Given the description of an element on the screen output the (x, y) to click on. 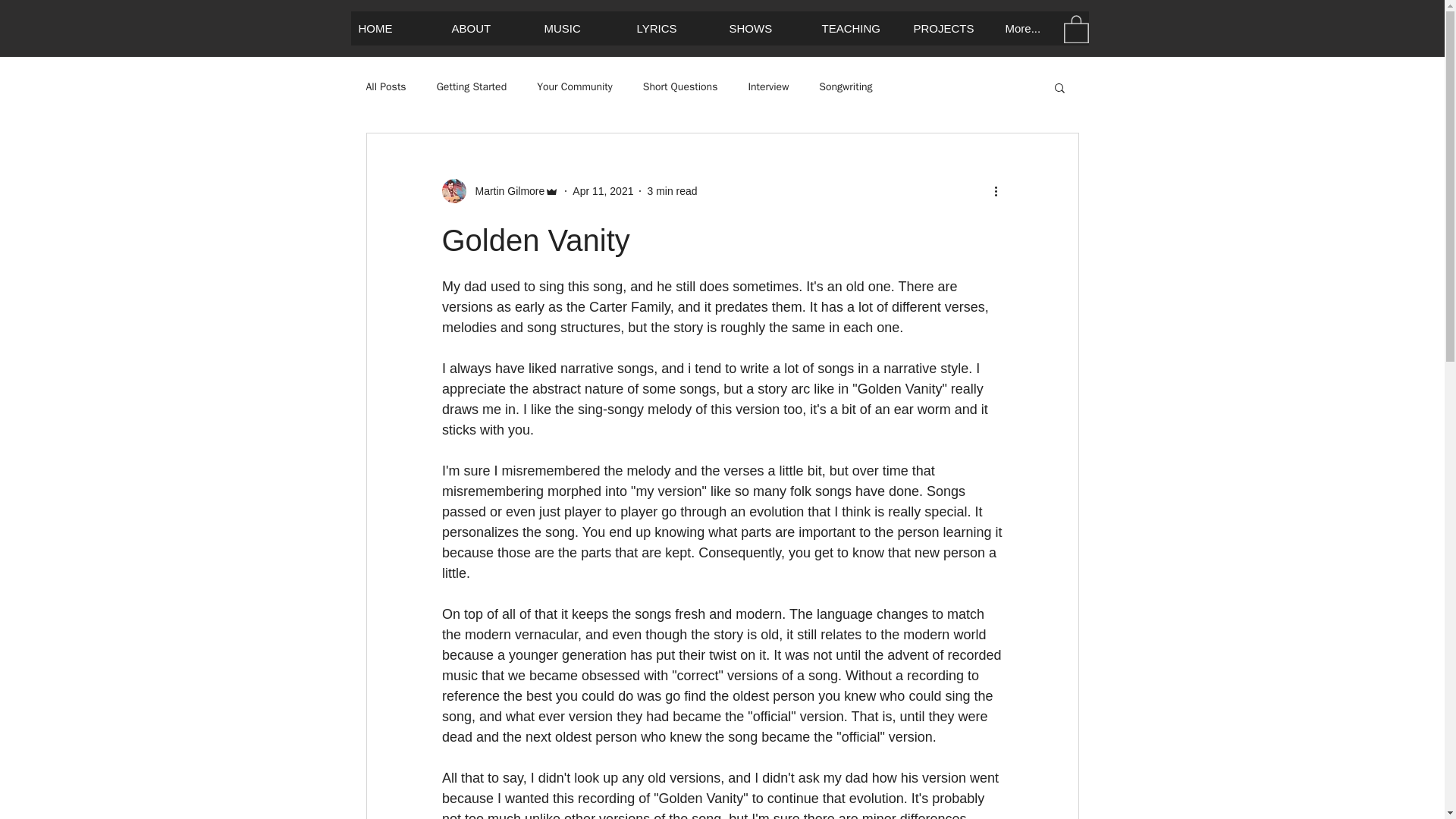
Martin Gilmore (504, 191)
Interview (768, 87)
Songwriting (845, 87)
ABOUT (488, 28)
All Posts (385, 87)
3 min read (671, 191)
HOME (396, 28)
Getting Started (471, 87)
Short Questions (680, 87)
MUSIC (581, 28)
Apr 11, 2021 (602, 191)
TEACHING (858, 28)
Martin Gilmore (500, 191)
LYRICS (673, 28)
Your Community (574, 87)
